Given the description of an element on the screen output the (x, y) to click on. 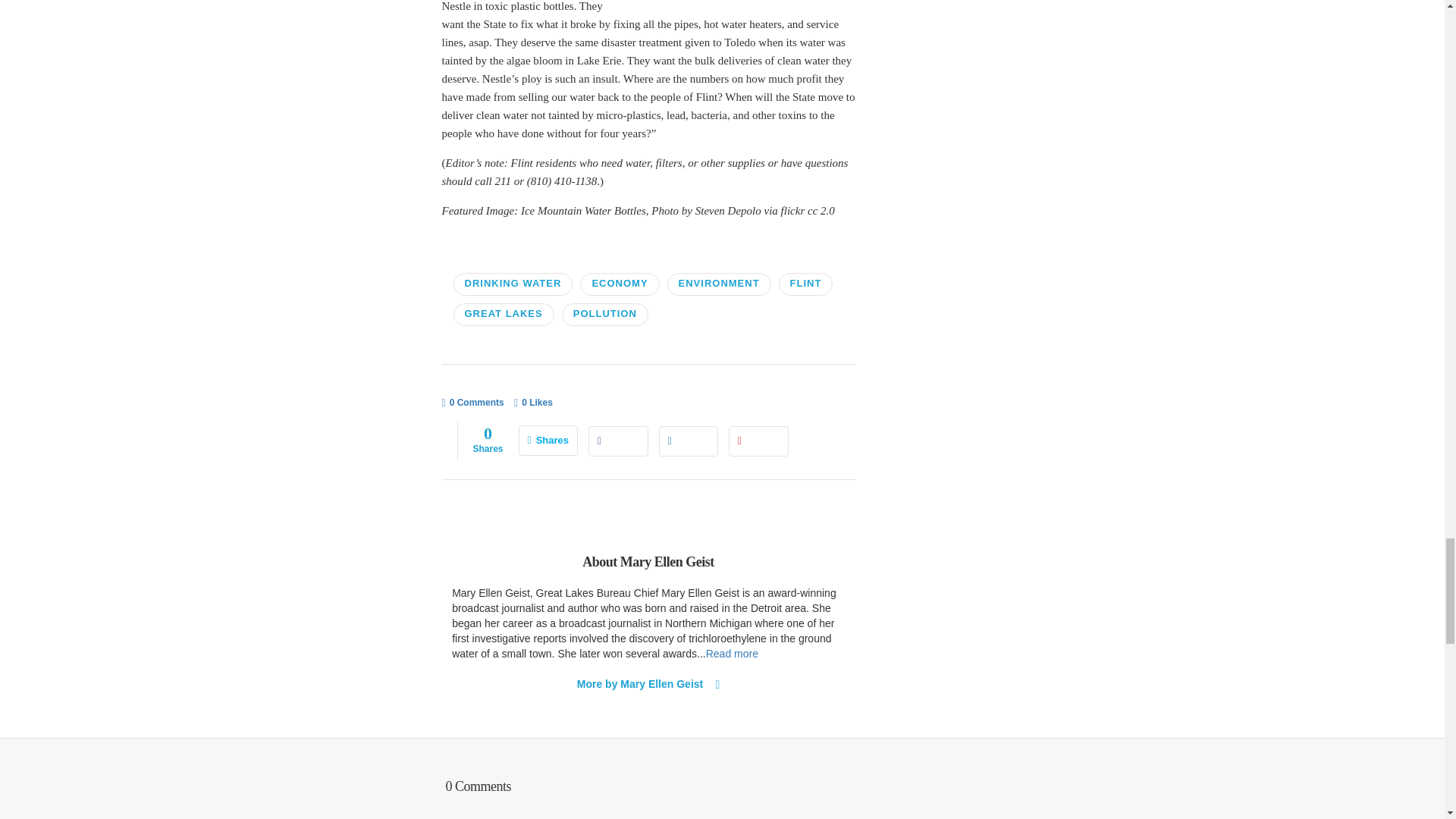
0 Comments (472, 402)
